Given the description of an element on the screen output the (x, y) to click on. 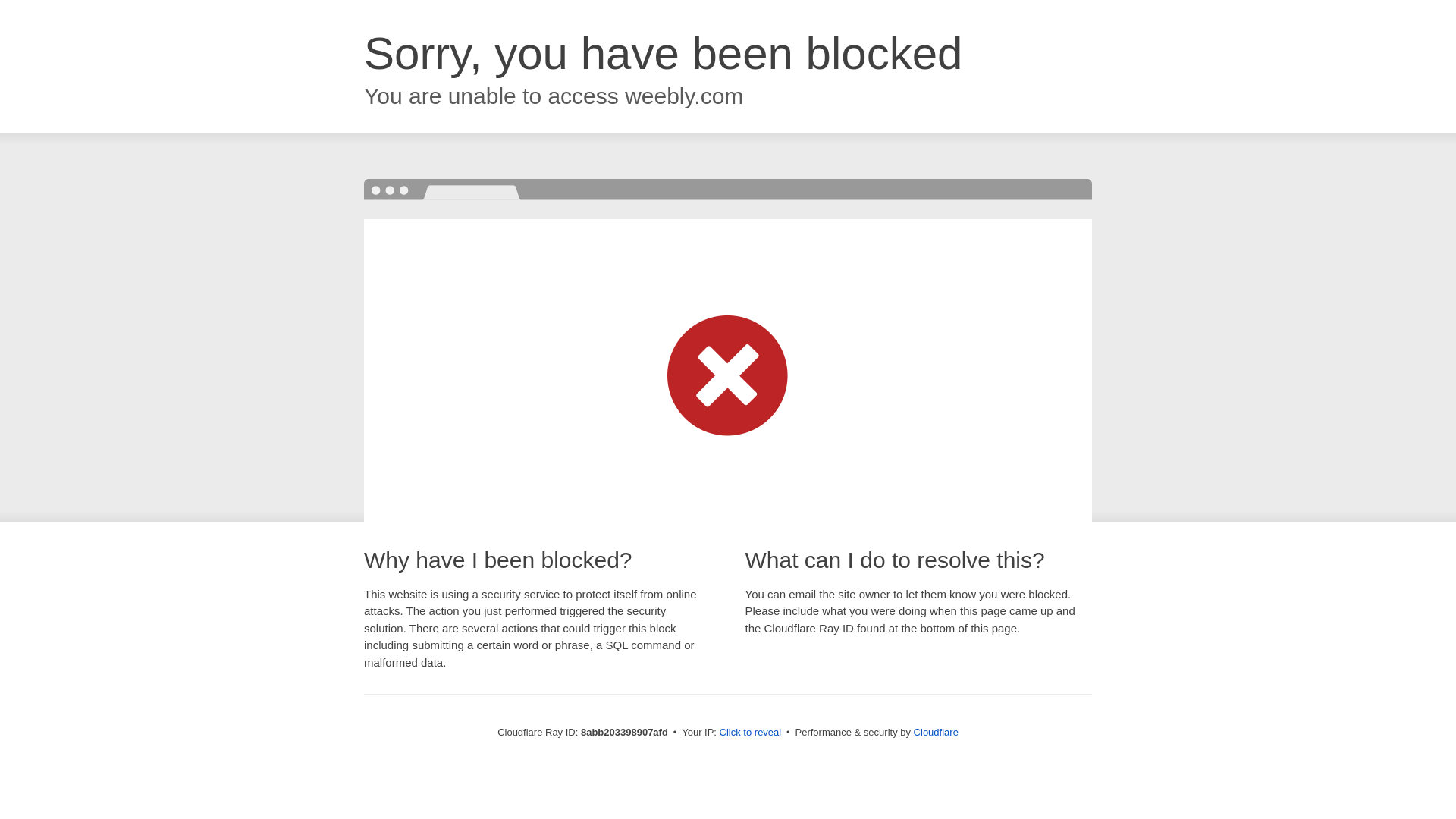
Cloudflare (936, 731)
Click to reveal (750, 732)
